Given the description of an element on the screen output the (x, y) to click on. 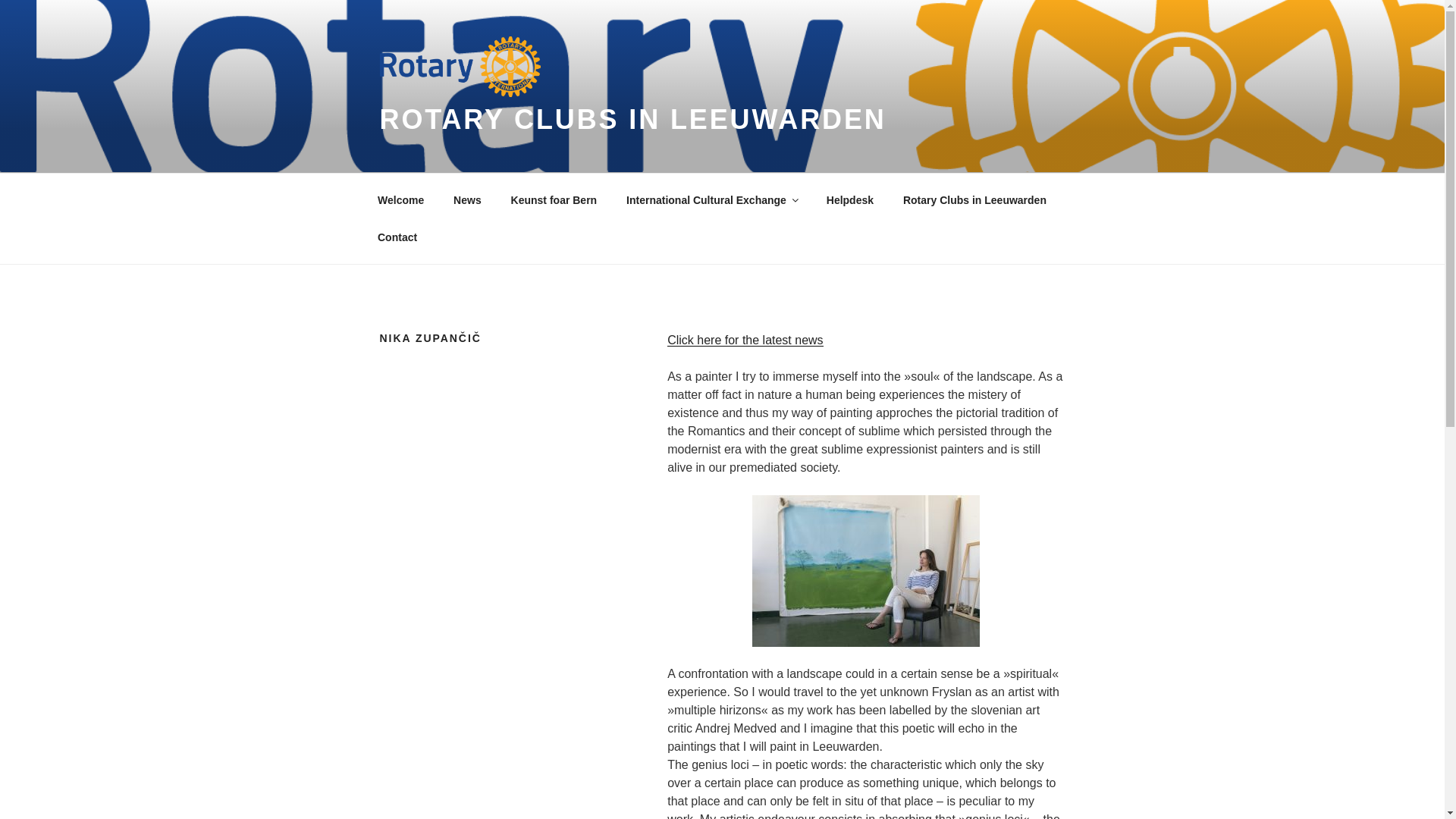
Click here for the latest news (744, 339)
News (468, 200)
Keunst foar Bern (553, 200)
ROTARY CLUBS IN LEEUWARDEN (631, 119)
Helpdesk (849, 200)
Welcome (400, 200)
Contact (396, 236)
Rotary Clubs in Leeuwarden (974, 200)
International Cultural Exchange (711, 200)
